Given the description of an element on the screen output the (x, y) to click on. 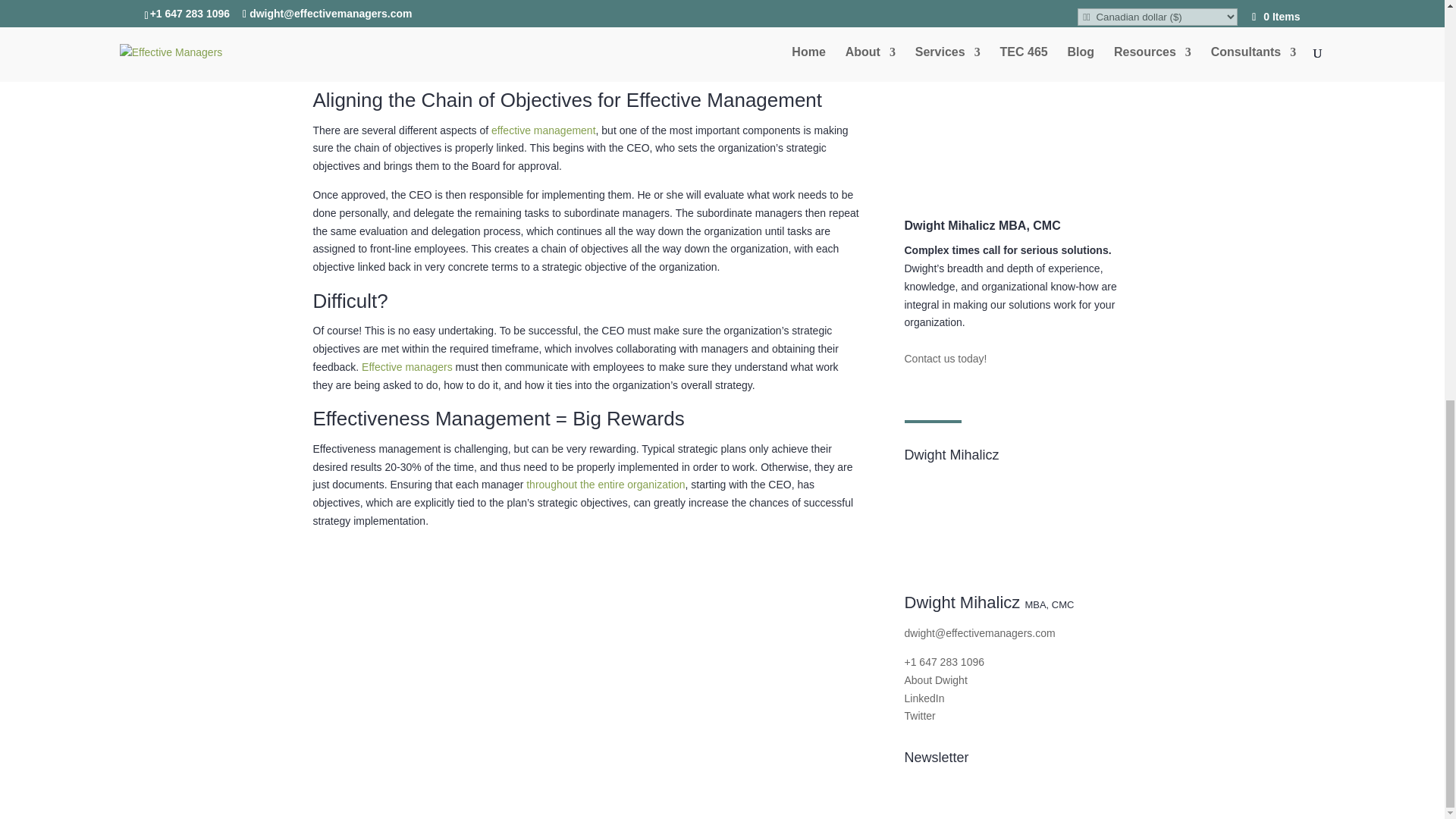
throughout the entire organization (604, 484)
Effective managers (406, 367)
effective management (543, 130)
